Given the description of an element on the screen output the (x, y) to click on. 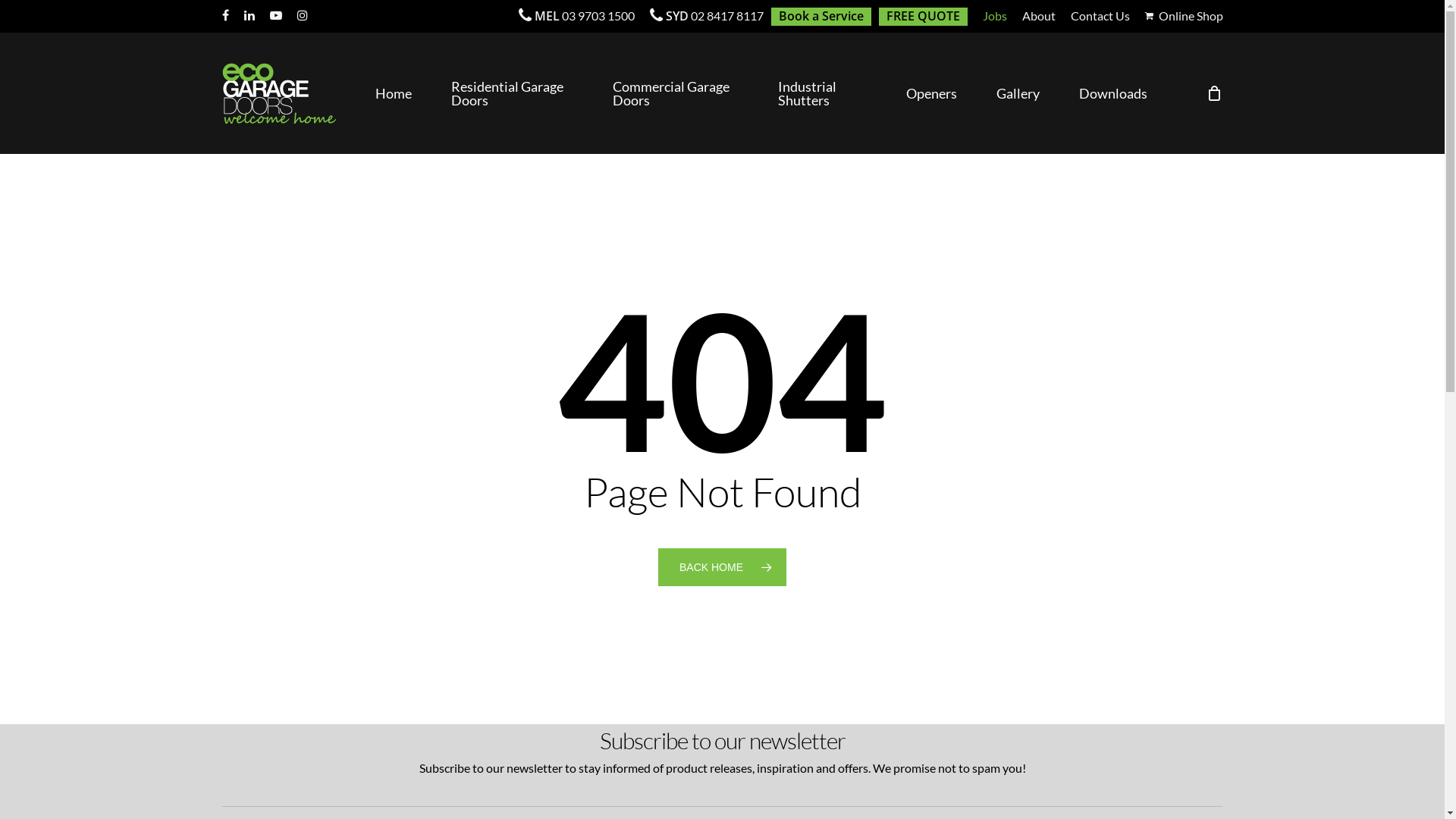
youtube Element type: text (275, 15)
Industrial Shutters Element type: text (822, 92)
Commercial Garage Doors Element type: text (675, 92)
Gallery Element type: text (1017, 93)
Online Shop Element type: text (1184, 15)
About Element type: text (1038, 16)
instagram Element type: text (302, 15)
BACK HOME Element type: text (722, 567)
Book a Service Element type: text (820, 16)
FREE QUOTE Element type: text (922, 16)
Home Element type: text (393, 93)
Downloads Element type: text (1112, 93)
Contact Us Element type: text (1099, 16)
MEL 03 9703 1500 Element type: text (576, 16)
SYD 02 8417 8117 Element type: text (705, 16)
Jobs Element type: text (994, 16)
Openers Element type: text (930, 93)
Residential Garage Doors Element type: text (512, 92)
linkedin Element type: text (249, 15)
facebook Element type: text (224, 15)
